Given the description of an element on the screen output the (x, y) to click on. 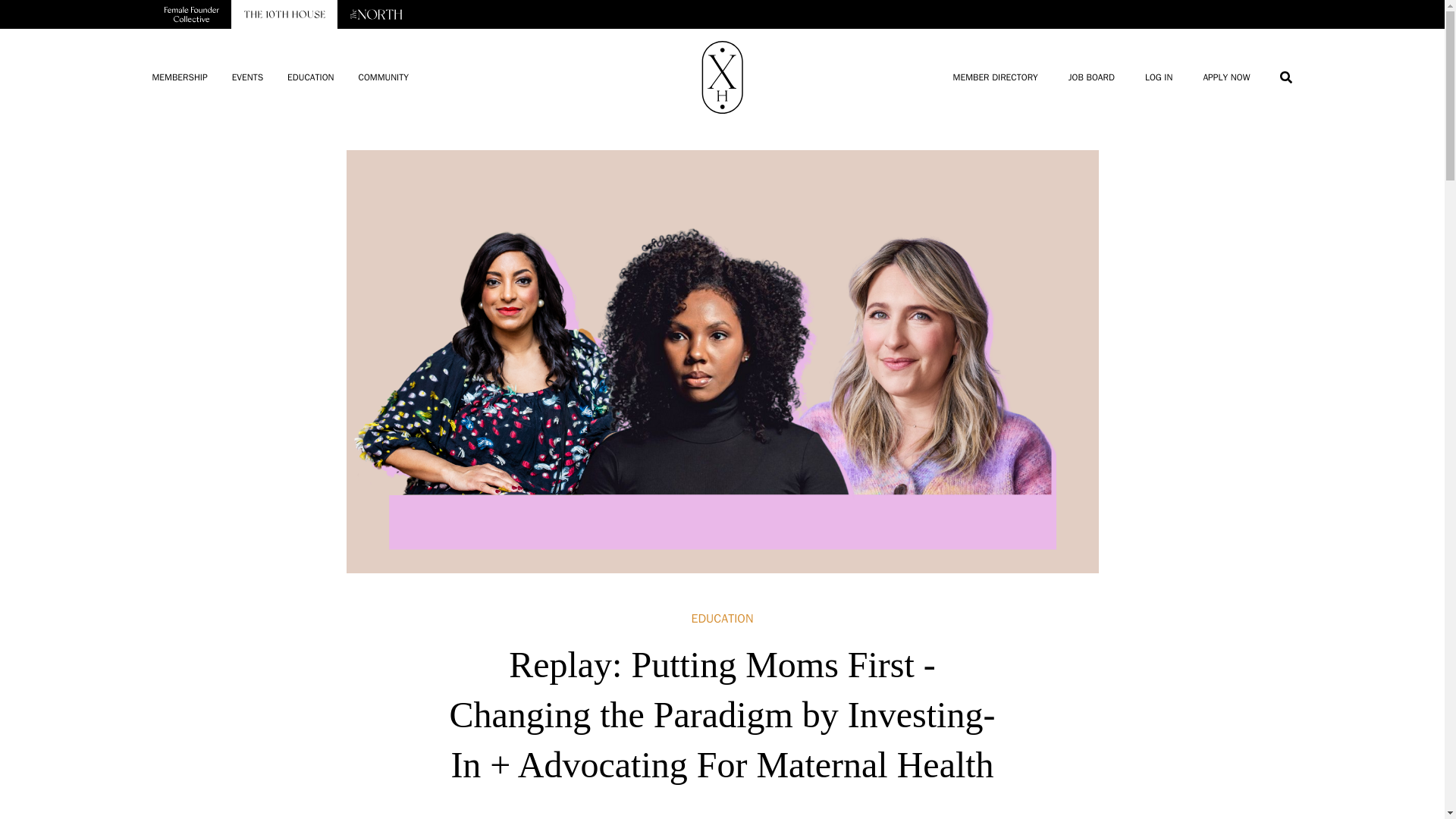
APPLY NOW (1225, 77)
EDUCATION (309, 77)
JOB BOARD (1091, 77)
MEMBER DIRECTORY (995, 77)
LOG IN (1158, 77)
EDUCATION (722, 618)
MEMBERSHIP (178, 77)
COMMUNITY (382, 77)
EVENTS (247, 77)
